Given the description of an element on the screen output the (x, y) to click on. 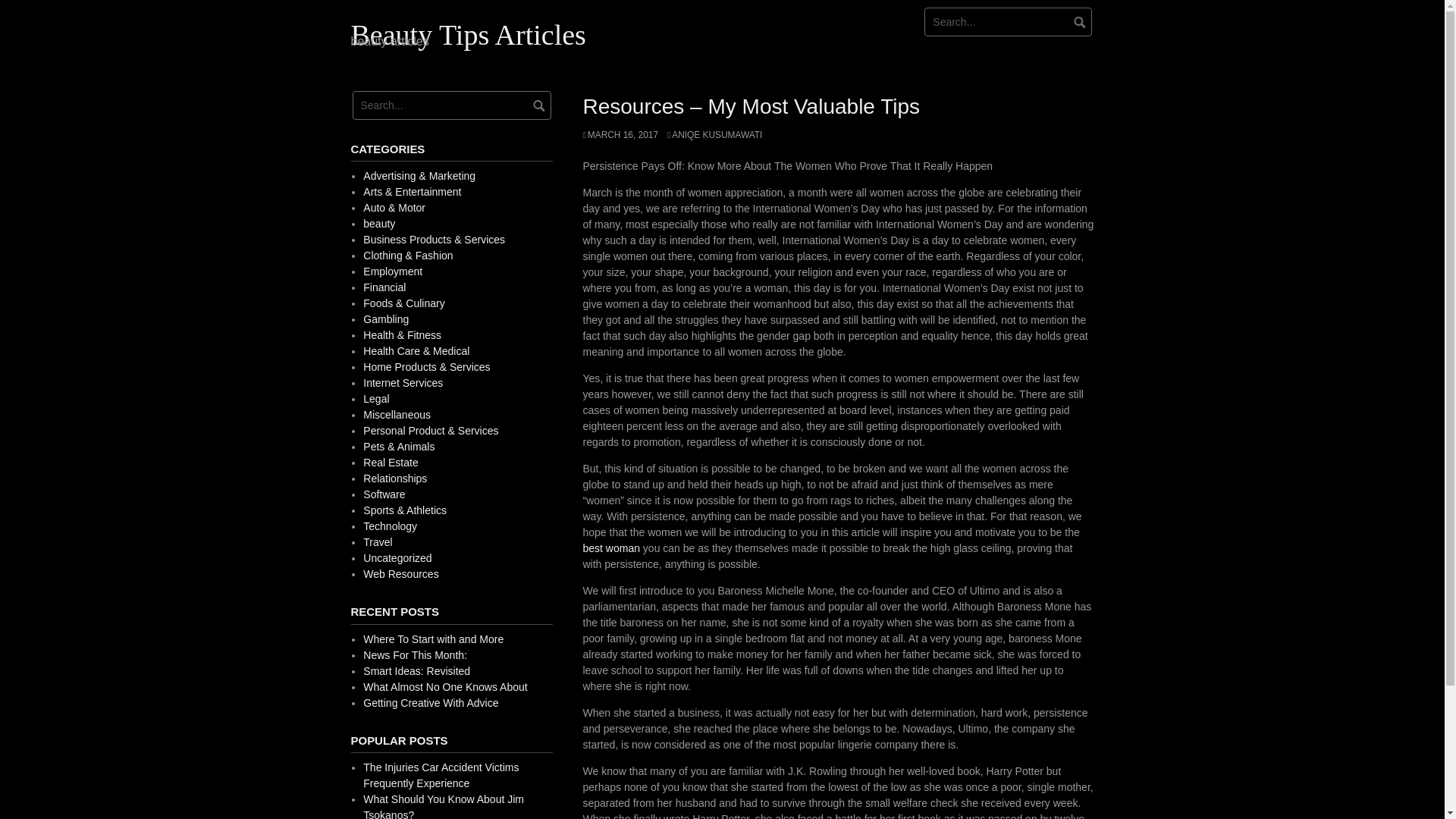
Web Resources (400, 573)
What Almost No One Knows About (444, 686)
Real Estate (389, 462)
News For This Month: (414, 654)
Technology (389, 526)
Employment (392, 271)
Search for: (1008, 21)
MARCH 16, 2017 (620, 134)
Miscellaneous (396, 414)
Smart Ideas: Revisited (416, 671)
Financial (384, 287)
Search for: (451, 104)
What Should You Know About Jim Tsokanos? (443, 806)
Internet Services (402, 382)
Uncategorized (396, 558)
